Given the description of an element on the screen output the (x, y) to click on. 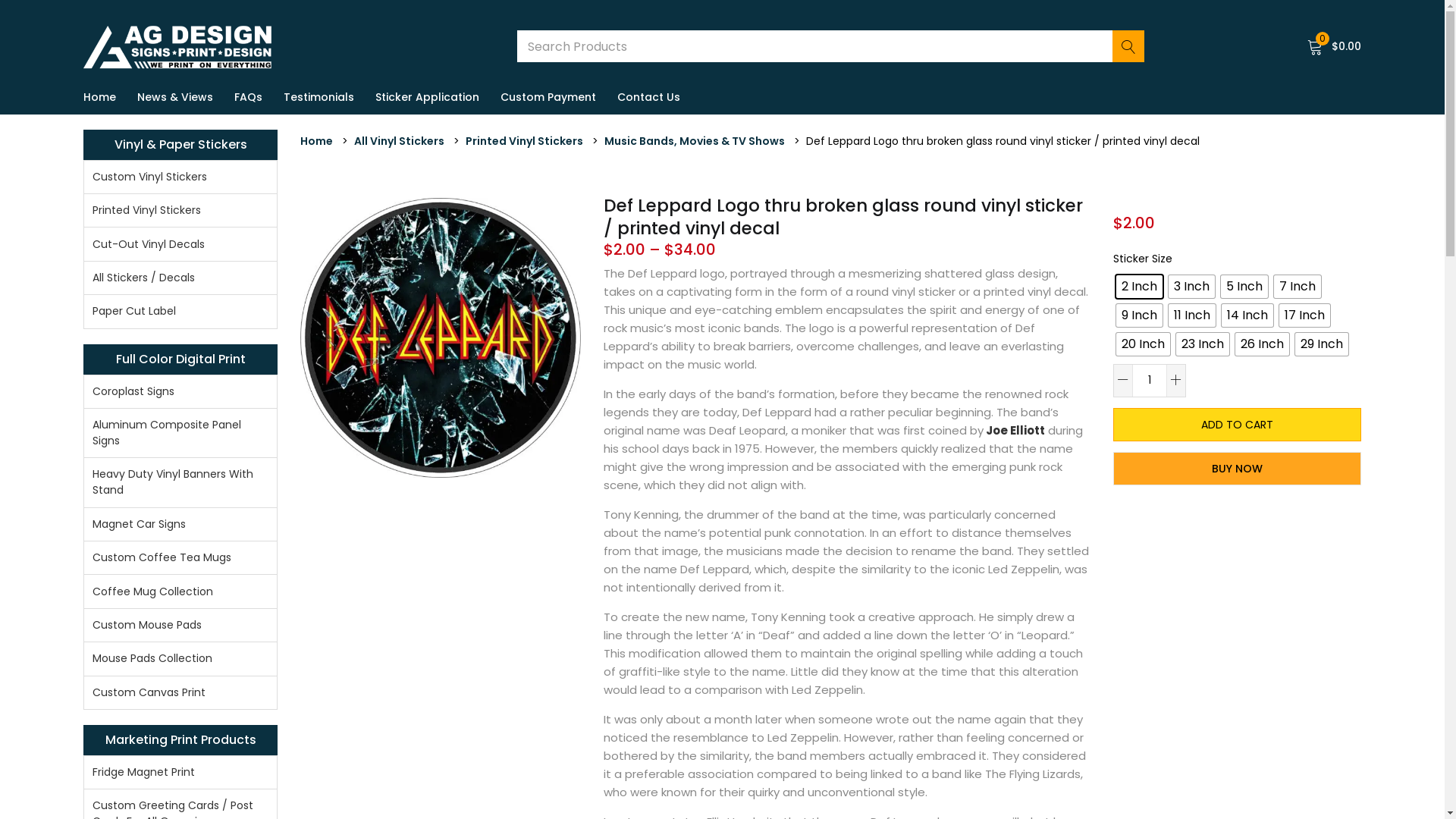
All Stickers / Decals Element type: text (180, 277)
Coffee Mug Collection Element type: text (180, 591)
Coroplast Signs Element type: text (180, 391)
Custom Vinyl Stickers Element type: text (180, 177)
All Vinyl Stickers Element type: text (399, 140)
Printed Vinyl Stickers Element type: text (524, 140)
Custom Coffee Tea Mugs Element type: text (180, 557)
Home Element type: text (316, 140)
News & Views Element type: text (174, 97)
FAQs Element type: text (248, 97)
Music Bands, Movies & TV Shows Element type: text (694, 140)
Joe Elliott Element type: text (1015, 430)
Home Element type: text (104, 97)
Custom Mouse Pads Element type: text (180, 625)
Sticker Application Element type: text (426, 97)
Custom Canvas Print Element type: text (180, 692)
ADD TO CART Element type: text (1237, 424)
Fridge Magnet Print Element type: text (180, 772)
Contact Us Element type: text (648, 97)
Printed Vinyl Stickers Element type: text (180, 210)
Custom Payment Element type: text (547, 97)
Heavy Duty Vinyl Banners With Stand Element type: text (180, 482)
BUY NOW Element type: text (1237, 468)
0
$0.00 Element type: text (1334, 45)
Aluminum Composite Panel Signs Element type: text (180, 433)
Def Leppard thru broken glass round vinyl sticker Element type: hover (440, 337)
Testimonials Element type: text (318, 97)
Magnet Car Signs Element type: text (180, 524)
Cut-Out Vinyl Decals Element type: text (180, 243)
Paper Cut Label Element type: text (180, 310)
Mouse Pads Collection Element type: text (180, 658)
Qty Element type: hover (1149, 380)
